Given the description of an element on the screen output the (x, y) to click on. 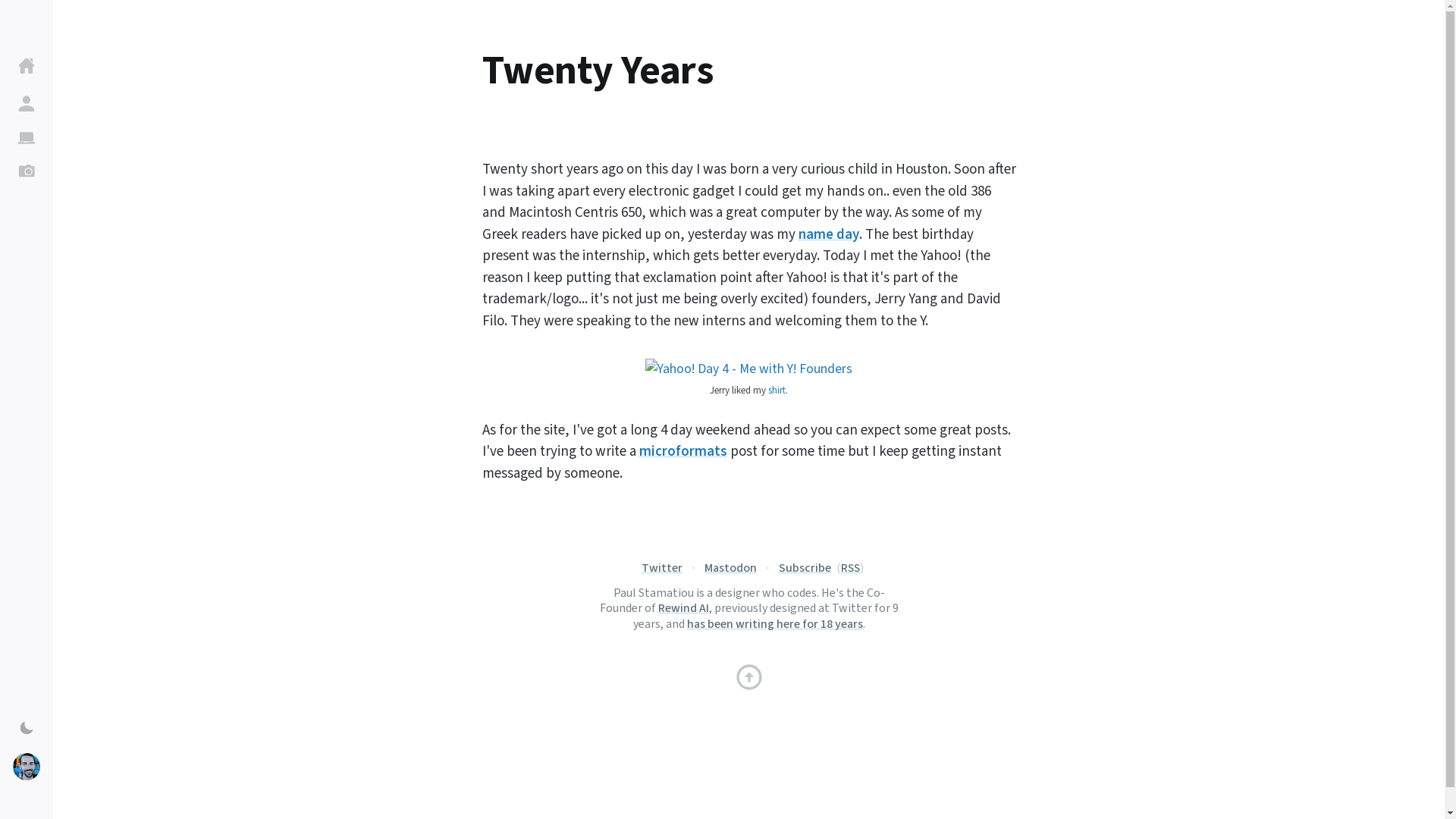
microformats (682, 450)
Rewind AI (683, 607)
has been writing here for 18 years (775, 623)
Twitter (662, 567)
Subscribe via Email (804, 567)
name day (828, 233)
RSS (850, 567)
Stammy on Mastodon (730, 567)
Subscribe (804, 567)
shirt (777, 390)
Stammy on Twitter (662, 567)
Subscribe via RSS (850, 567)
Photo Sharing (748, 368)
Mastodon (730, 567)
